Given the description of an element on the screen output the (x, y) to click on. 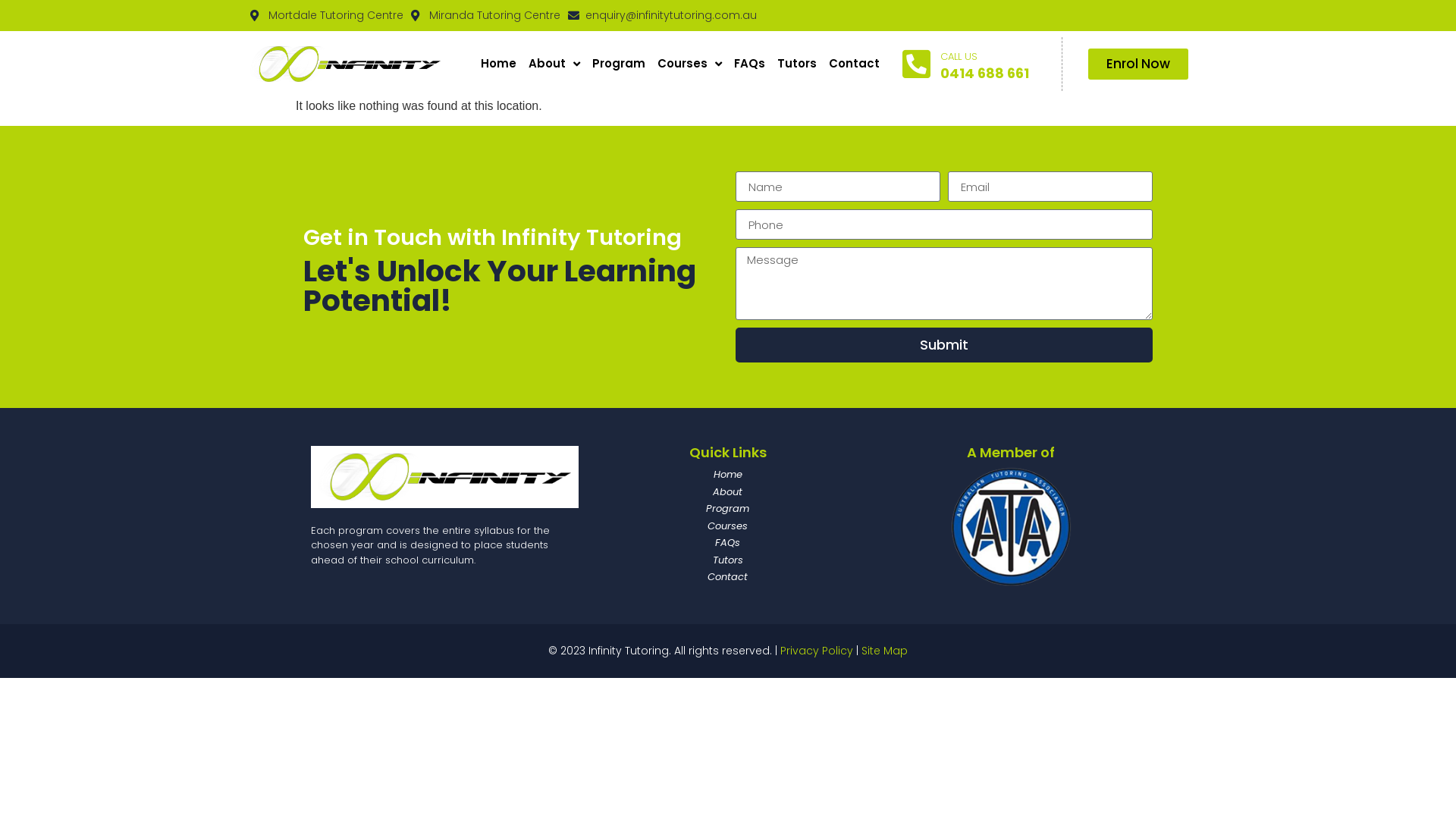
FAQs Element type: text (727, 542)
About Element type: text (554, 63)
Site Map Element type: text (884, 650)
Contact Element type: text (727, 576)
Program Element type: text (618, 63)
Courses Element type: text (727, 525)
Enrol Now Element type: text (1138, 63)
Home Element type: text (727, 474)
Submit Element type: text (943, 344)
Mortdale Tutoring Centre Element type: text (326, 15)
Miranda Tutoring Centre Element type: text (485, 15)
0414 688 661 Element type: text (984, 72)
enquiry@infinitytutoring.com.au Element type: text (661, 15)
Home Element type: text (498, 63)
Courses Element type: text (689, 63)
Contact Element type: text (853, 63)
CALL US Element type: text (958, 56)
About Element type: text (727, 490)
Privacy Policy Element type: text (816, 650)
Program Element type: text (727, 508)
FAQs Element type: text (749, 63)
Tutors Element type: text (796, 63)
Tutors Element type: text (727, 559)
